Given the description of an element on the screen output the (x, y) to click on. 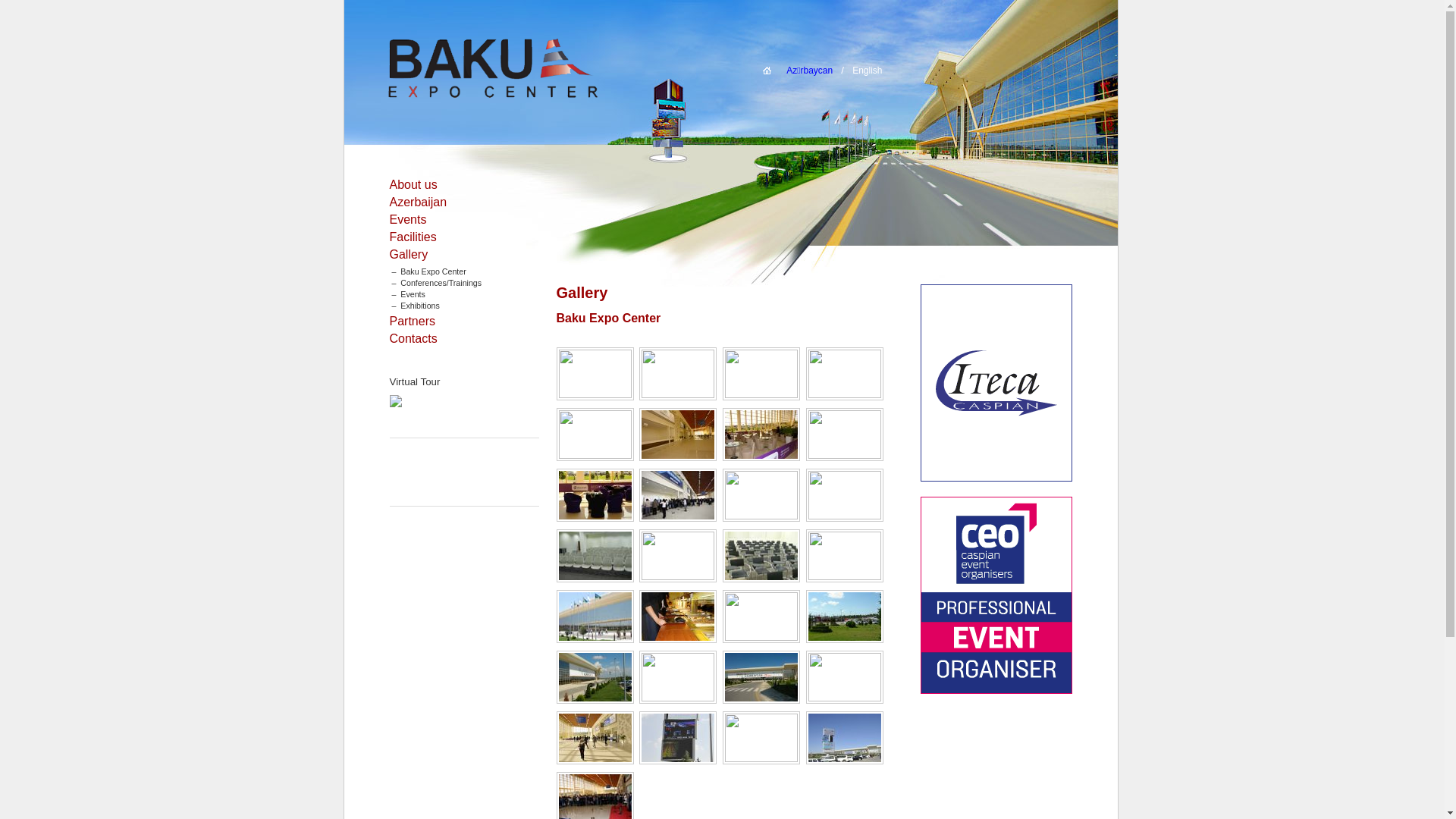
Azerbaijan Element type: text (418, 201)
Gallery Element type: text (408, 253)
Events Element type: text (407, 219)
Contacts Element type: text (413, 338)
Facilities Element type: text (412, 236)
Partners Element type: text (412, 320)
Baku Expo Center Element type: hover (533, 70)
About us Element type: text (413, 184)
